Given the description of an element on the screen output the (x, y) to click on. 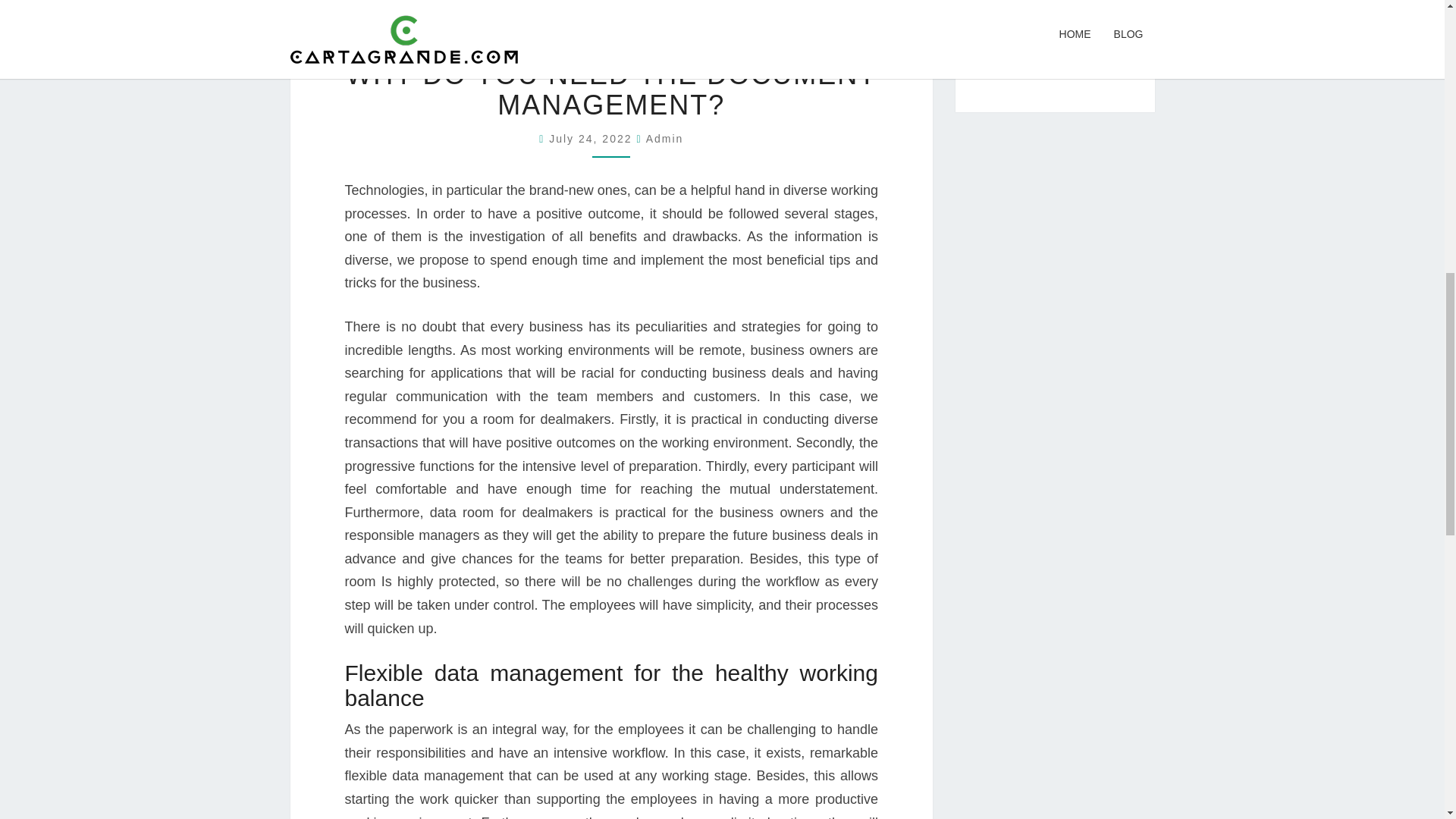
July 24, 2022 (592, 138)
View all posts by admin (665, 138)
Admin (665, 138)
10:00 pm (592, 138)
The Differences Between Coaching and Mentoring (1053, 6)
